Given the description of an element on the screen output the (x, y) to click on. 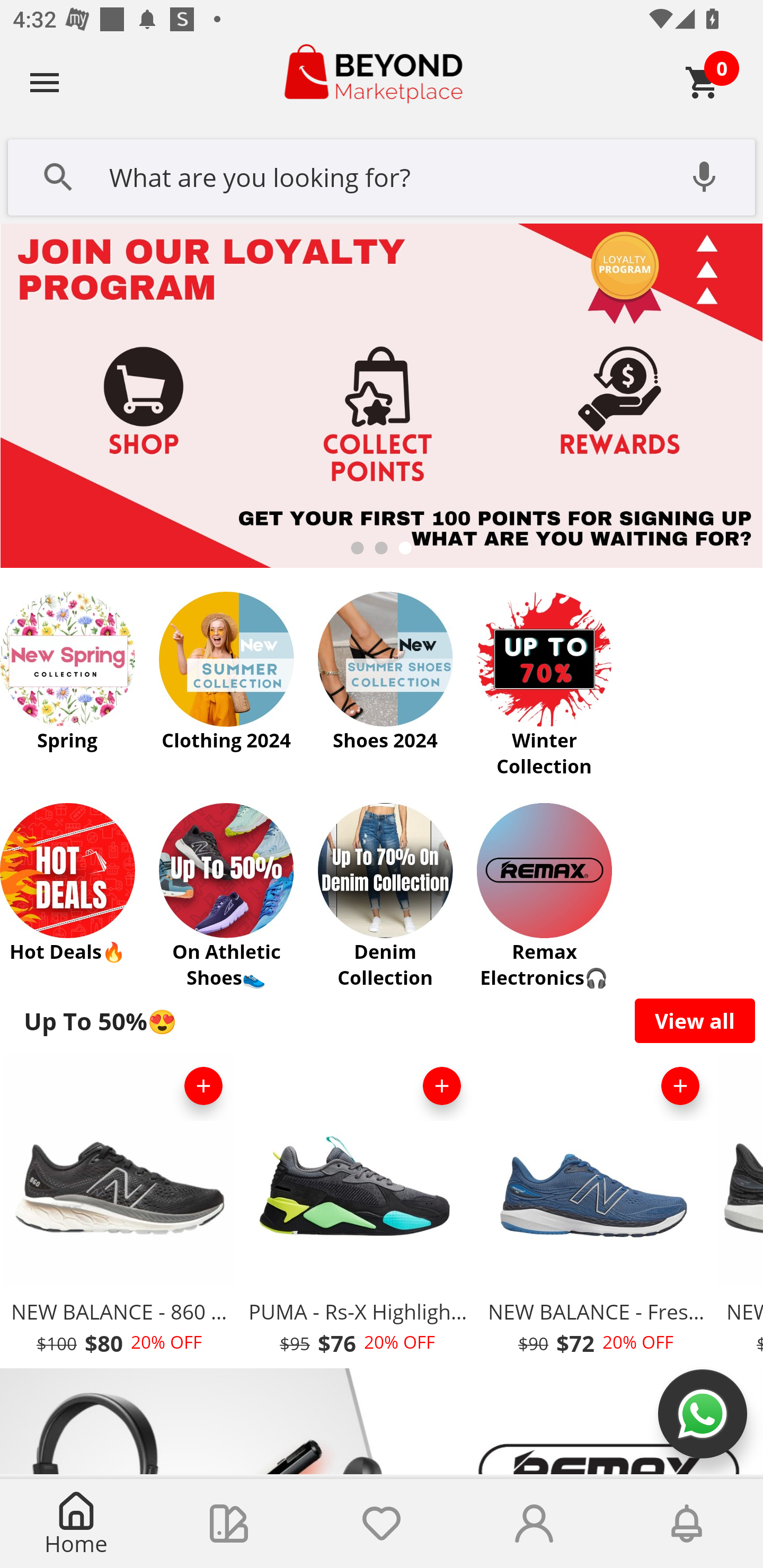
Navigate up (44, 82)
What are you looking for? (381, 175)
View all (694, 1020)
NEW BALANCE - 860 Running Shoes $100 $80 20% OFF (119, 1209)
Collections (228, 1523)
Wishlist (381, 1523)
Account (533, 1523)
Notifications (686, 1523)
